Given the description of an element on the screen output the (x, y) to click on. 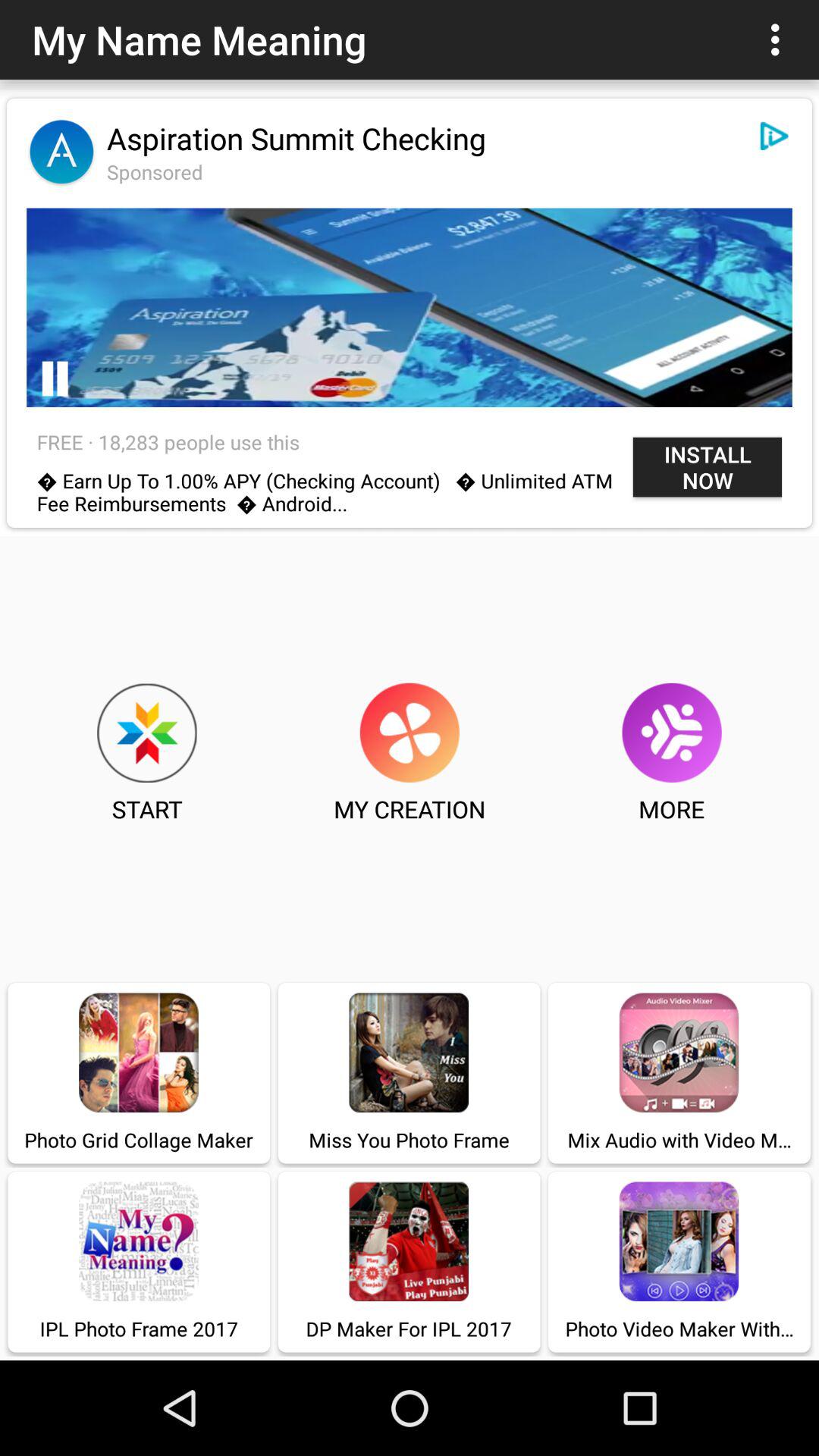
click item to the right of my name meaning icon (779, 39)
